Given the description of an element on the screen output the (x, y) to click on. 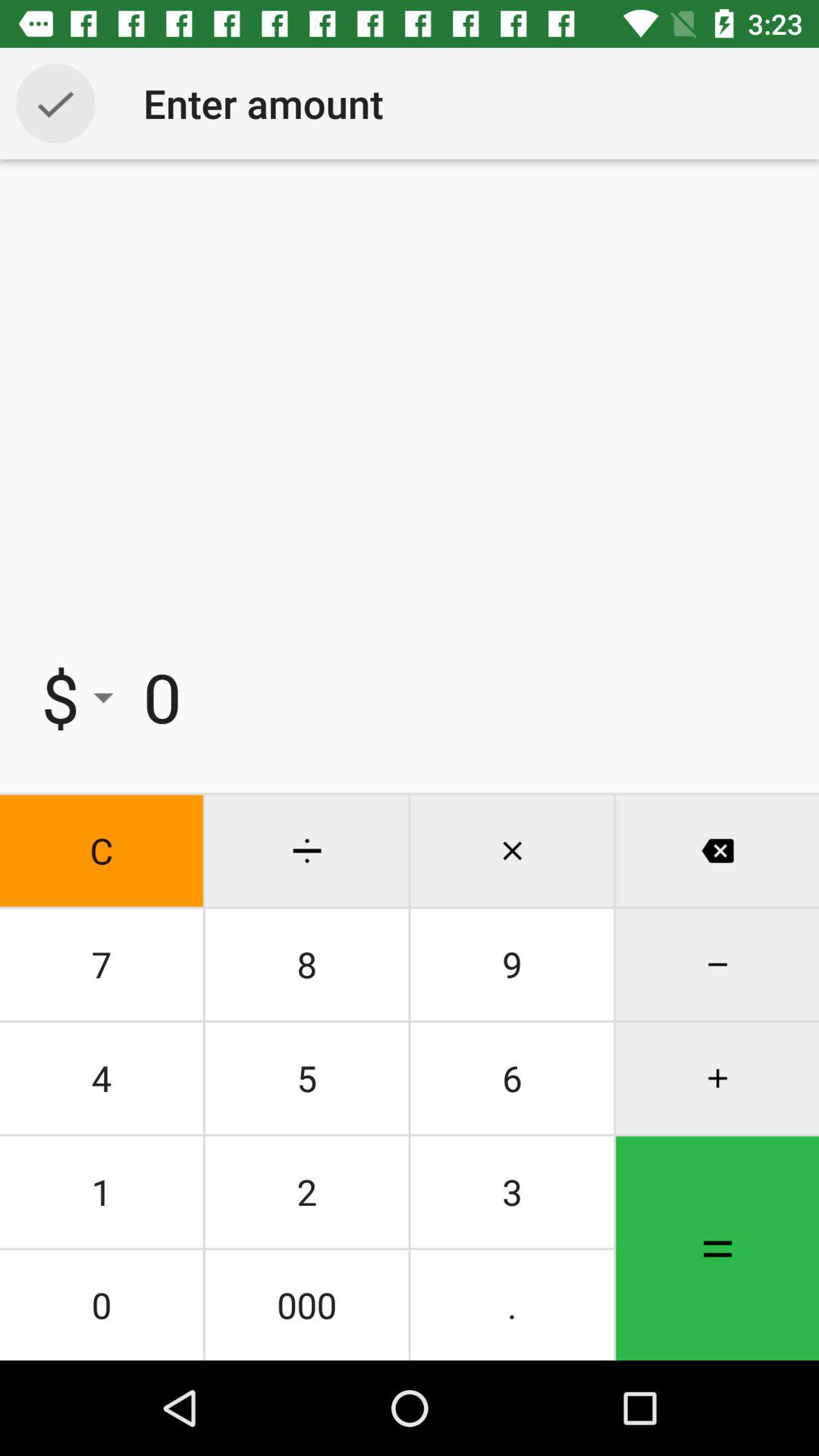
turn on the item above $ icon (55, 103)
